Given the description of an element on the screen output the (x, y) to click on. 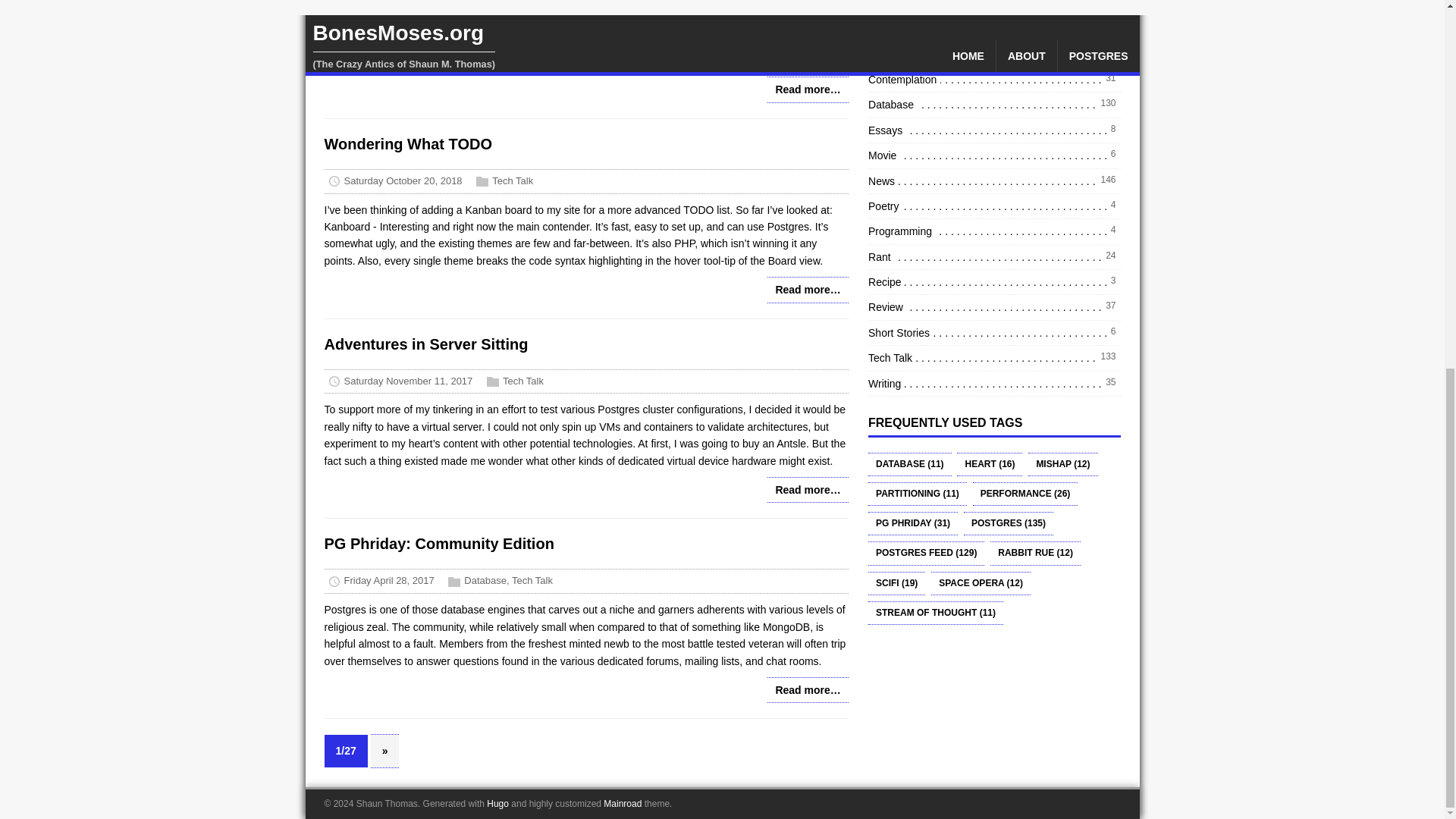
Tech Talk (522, 380)
Heart (989, 463)
PG Phriday: Community Edition (439, 543)
Stream of Thought (935, 612)
Performance (1025, 494)
Tech Talk (512, 180)
Postgres Feed (925, 553)
Contemplation (903, 79)
Database (909, 463)
Space Opera (980, 583)
Postgres (1007, 523)
SciFi (895, 583)
Essays (886, 130)
PG Phriday (912, 523)
Database (892, 104)
